Given the description of an element on the screen output the (x, y) to click on. 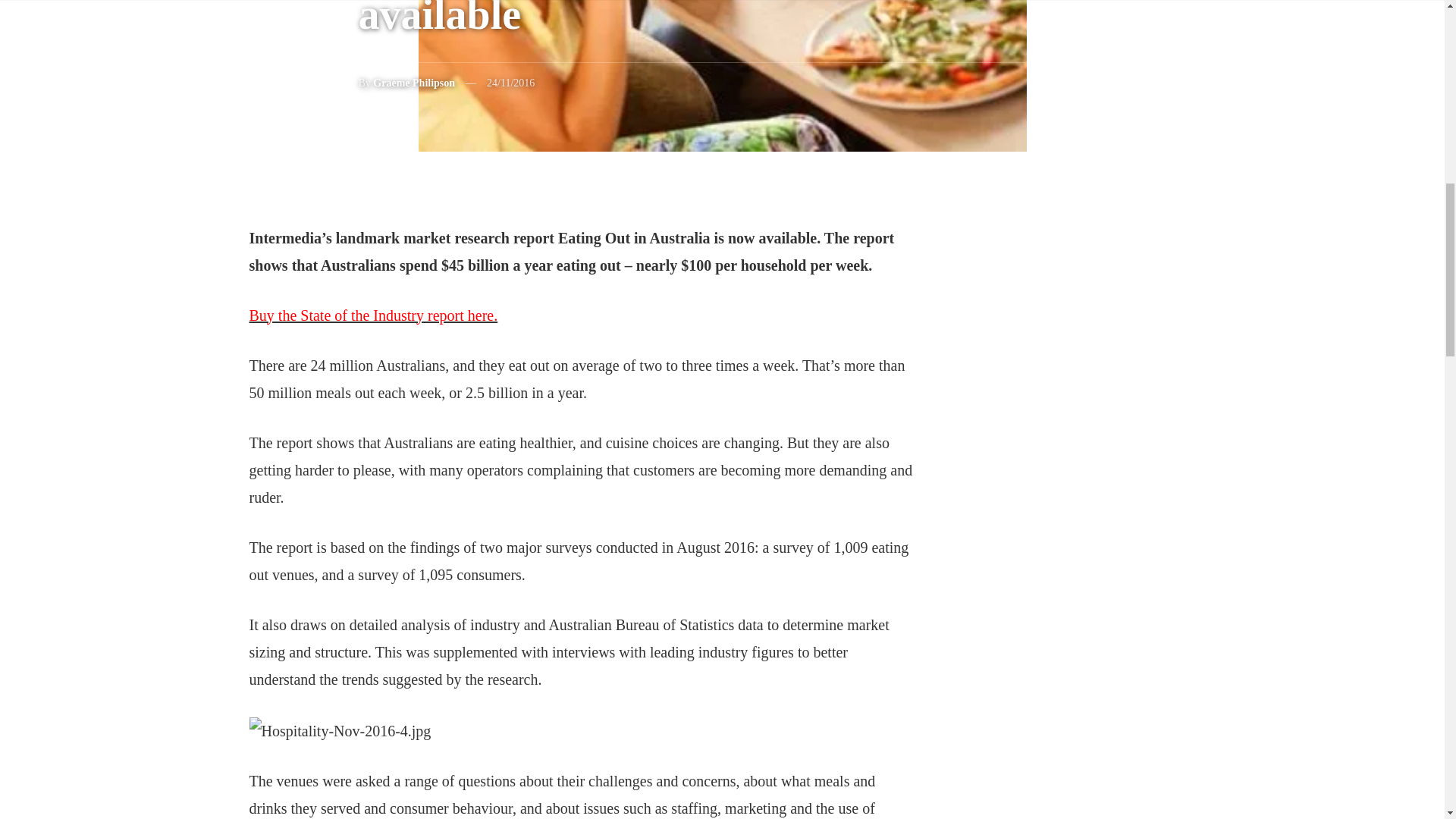
3rd party ad content (1100, 767)
Buy the State of the Industry report here. (372, 314)
3rd party ad content (1100, 451)
Graeme Philipson (413, 82)
Hospitality-Nov-2016-4.jpg (339, 730)
